Given the description of an element on the screen output the (x, y) to click on. 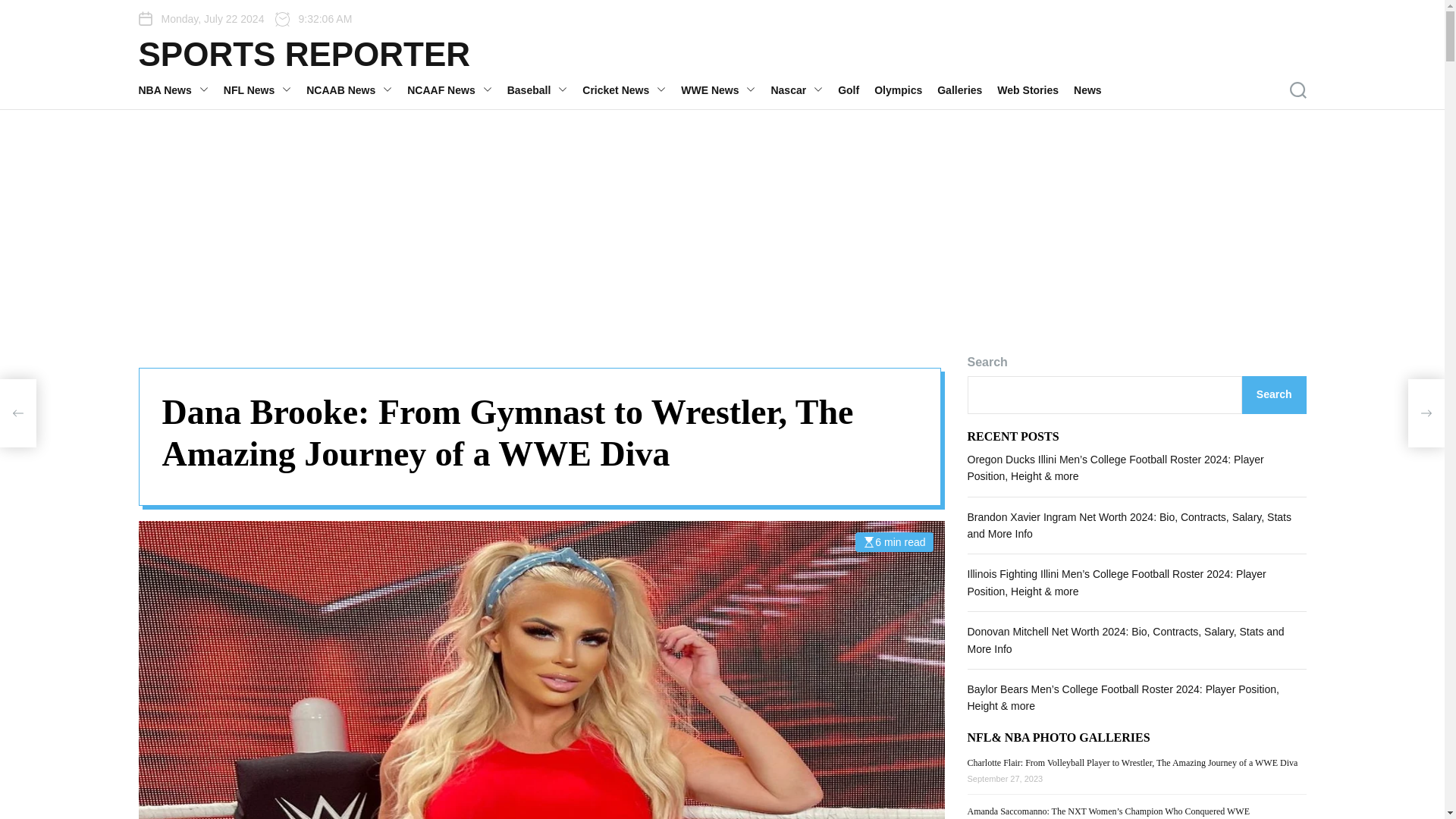
NCAAF News (456, 89)
Baseball (544, 89)
WWE News (725, 89)
Nascar (804, 89)
NCAAB News (356, 89)
Cricket News (631, 89)
SPORTS REPORTER (304, 54)
NBA News (180, 89)
NFL News (264, 89)
